Given the description of an element on the screen output the (x, y) to click on. 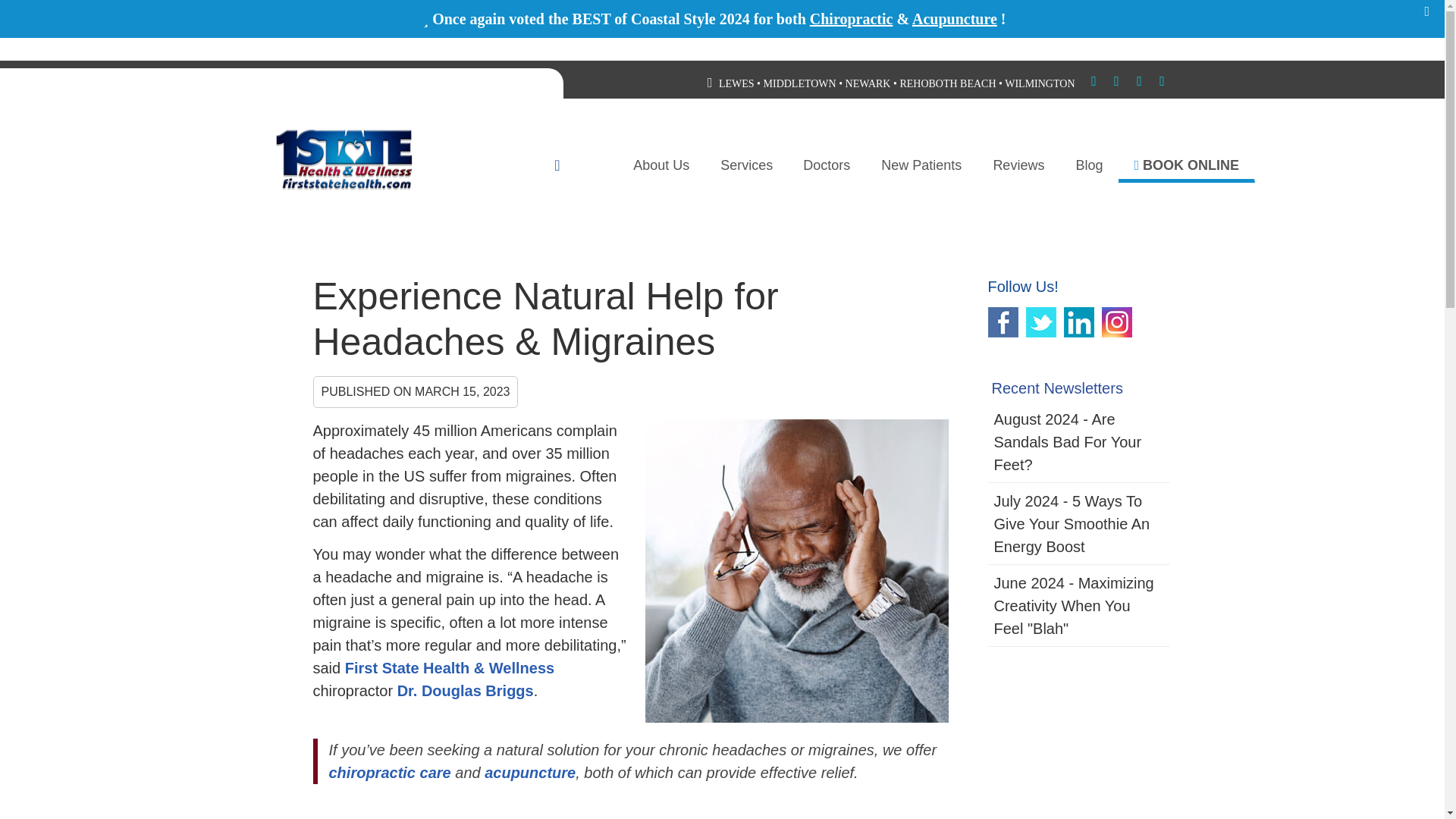
Chiropractic (851, 18)
Home (583, 165)
Facebook Social Button (1093, 83)
MIDDLETOWN (798, 83)
Instagram Social Button (1161, 83)
LEWES (736, 83)
Twitter Social Button (1115, 83)
About Us (660, 165)
Linkedin Social Button (1138, 83)
WILMINGTON (1039, 83)
